Given the description of an element on the screen output the (x, y) to click on. 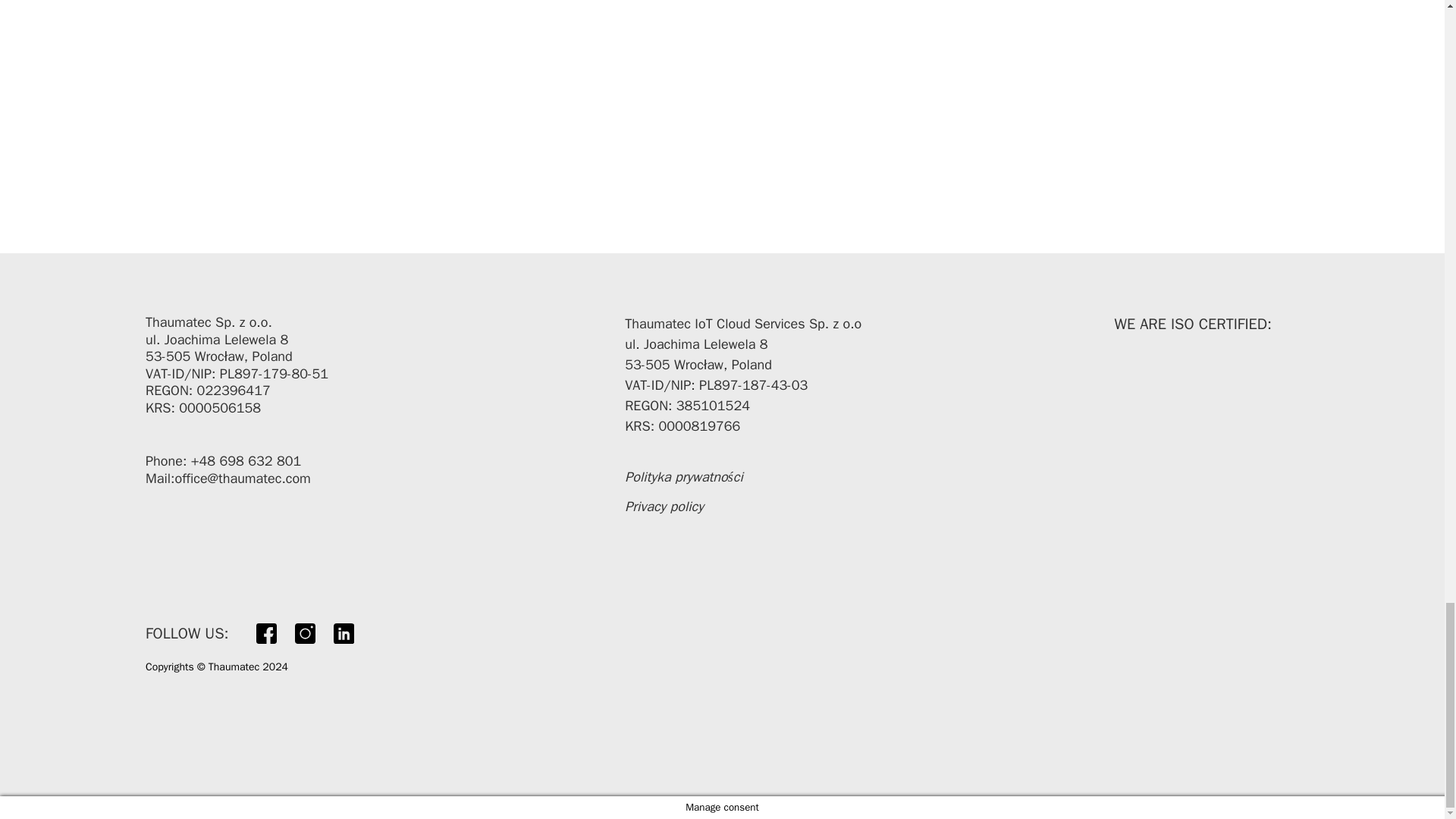
Privacy policy (663, 506)
